Given the description of an element on the screen output the (x, y) to click on. 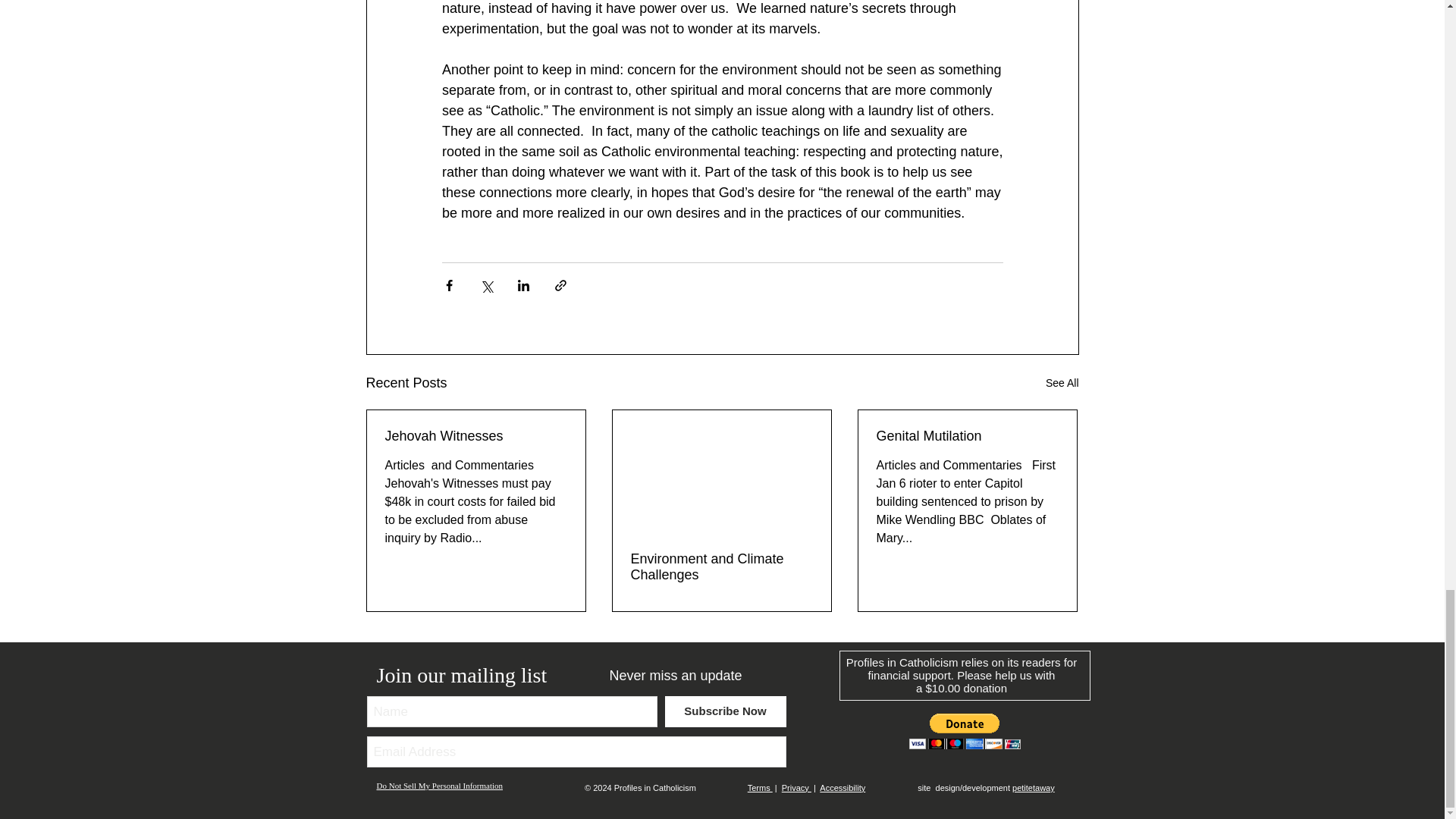
Environment and Climate Challenges (721, 567)
Genital Mutilation (967, 436)
See All (1061, 382)
Jehovah Witnesses (476, 436)
